Given the description of an element on the screen output the (x, y) to click on. 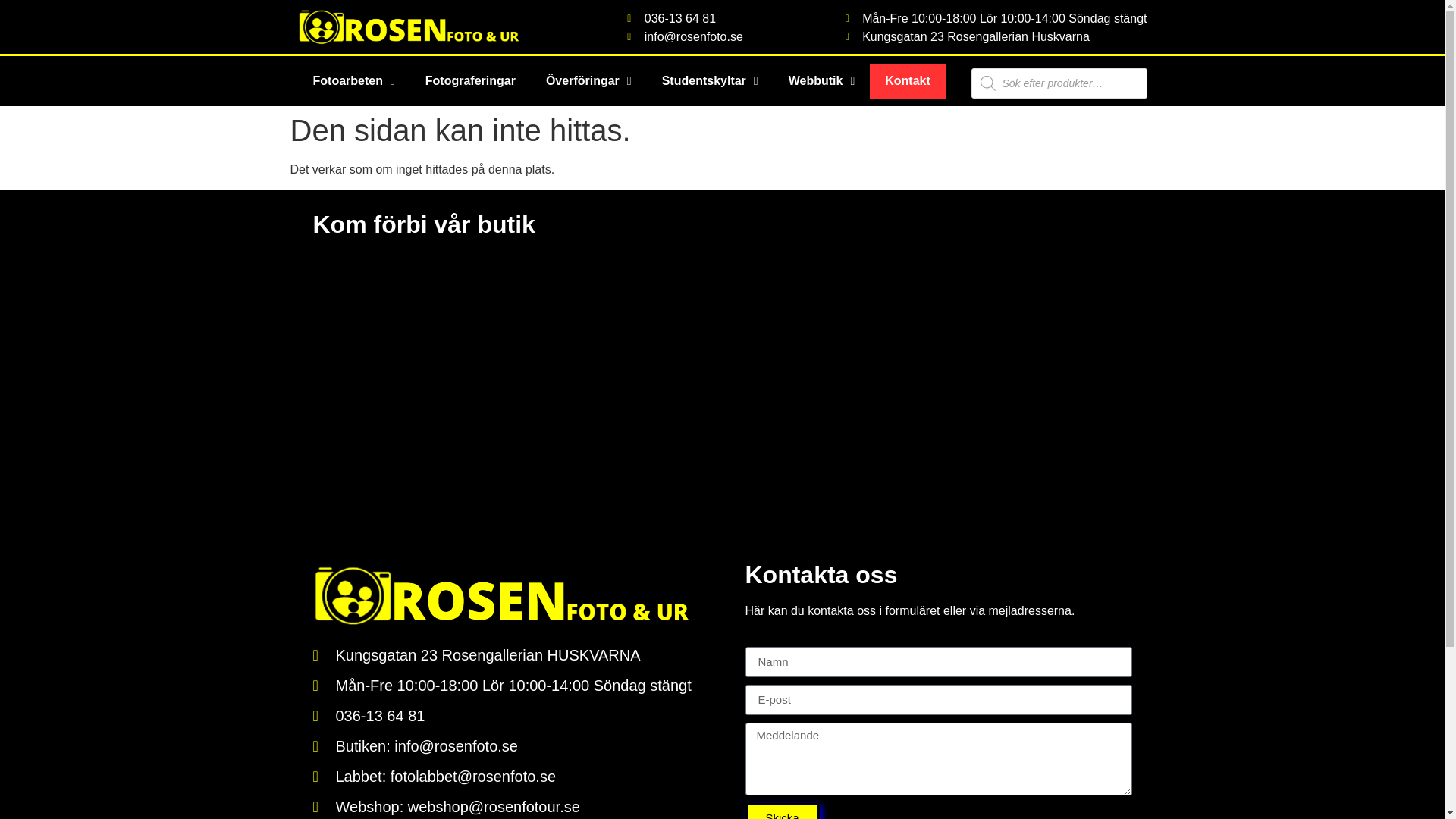
Fotograferingar (470, 80)
Fotoarbeten (353, 80)
036-13 64 81 (684, 18)
Webbutik (821, 80)
Studentskyltar (709, 80)
